Given the description of an element on the screen output the (x, y) to click on. 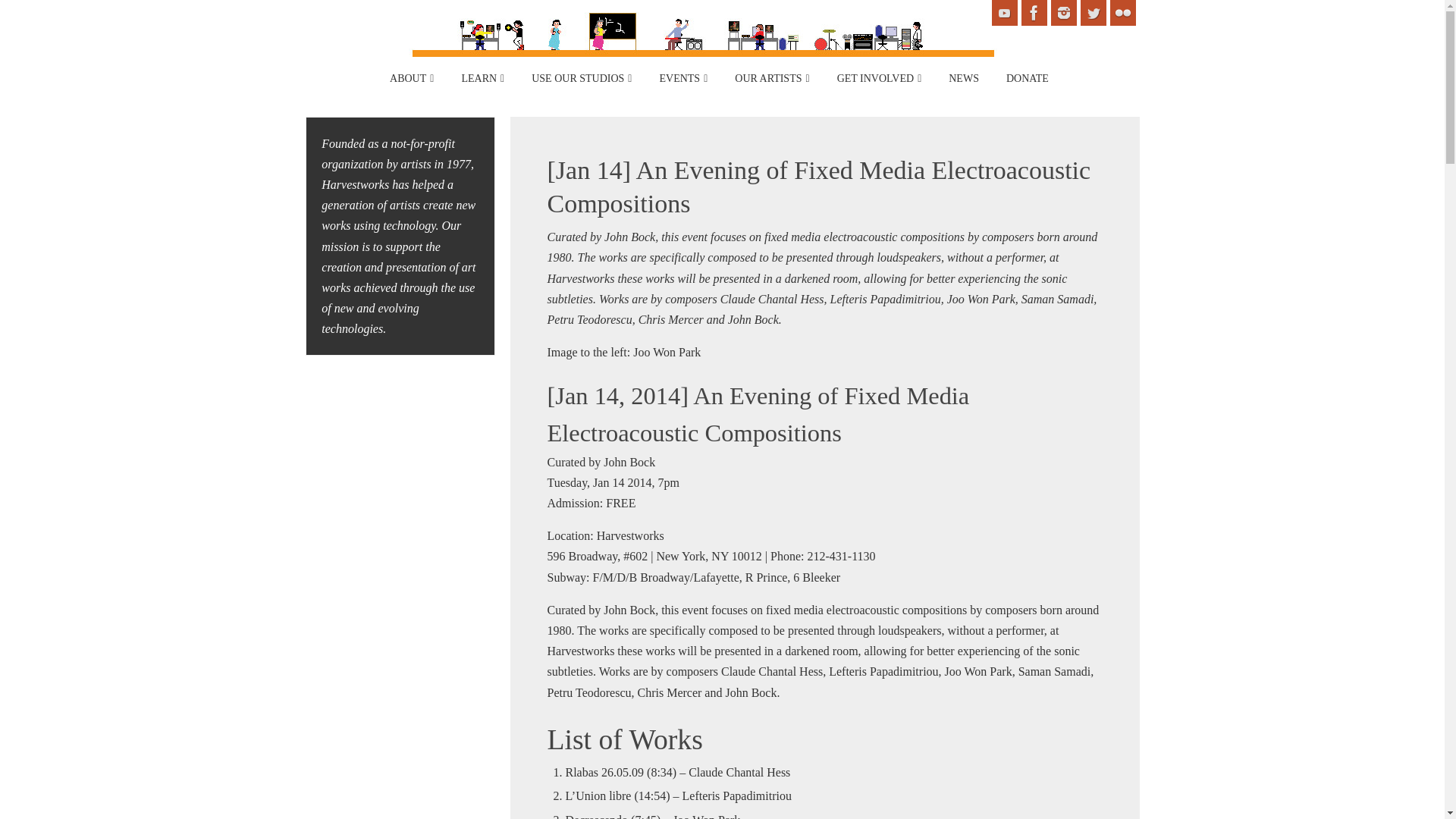
OUR ARTISTS (771, 78)
LEARN (482, 78)
YouTube (1004, 12)
ABOUT (411, 78)
USE OUR STUDIOS (581, 78)
Harvestworks Digital Media Arts Center (702, 68)
Facebook (1033, 12)
Twitter (1092, 12)
EVENTS (682, 78)
Flickr (1122, 12)
Instagram (1064, 12)
